Given the description of an element on the screen output the (x, y) to click on. 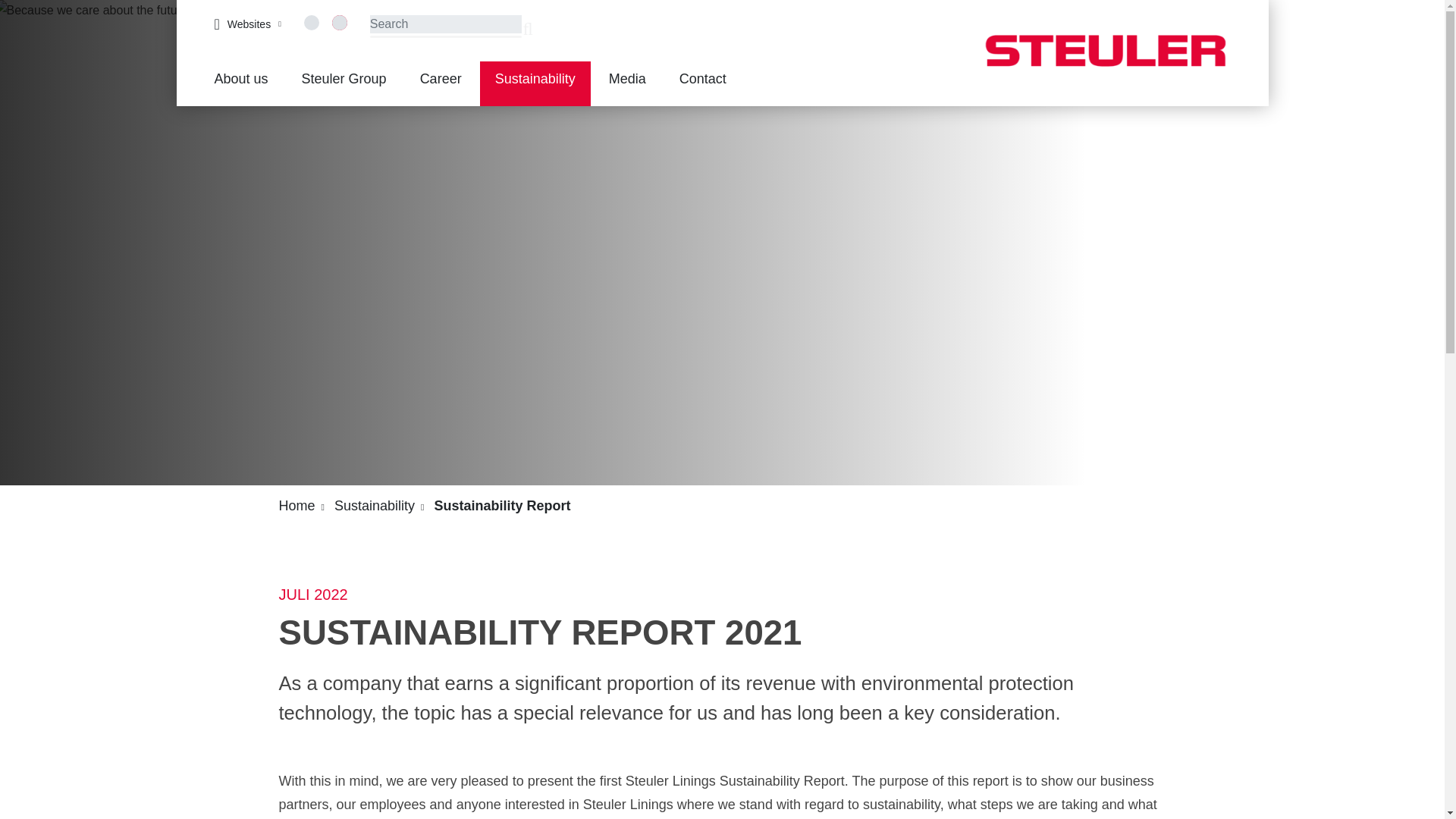
Websites (247, 23)
Websites (247, 23)
Steuler Group (343, 83)
Steuler Group (343, 83)
About us (240, 83)
About us (240, 83)
Career (440, 83)
